Given the description of an element on the screen output the (x, y) to click on. 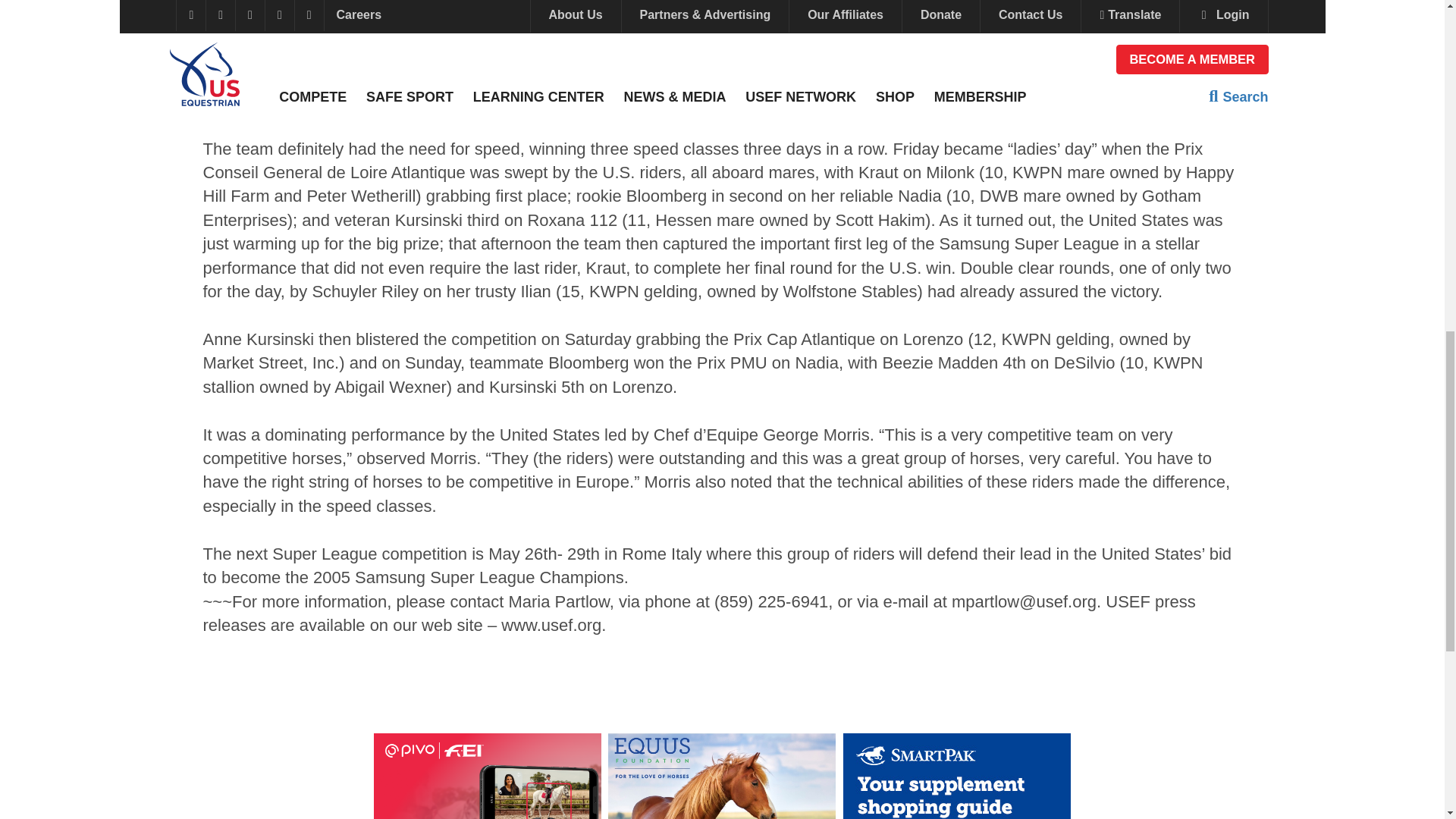
3rd party ad content (485, 776)
3rd party ad content (956, 776)
3rd party ad content (721, 776)
